Given the description of an element on the screen output the (x, y) to click on. 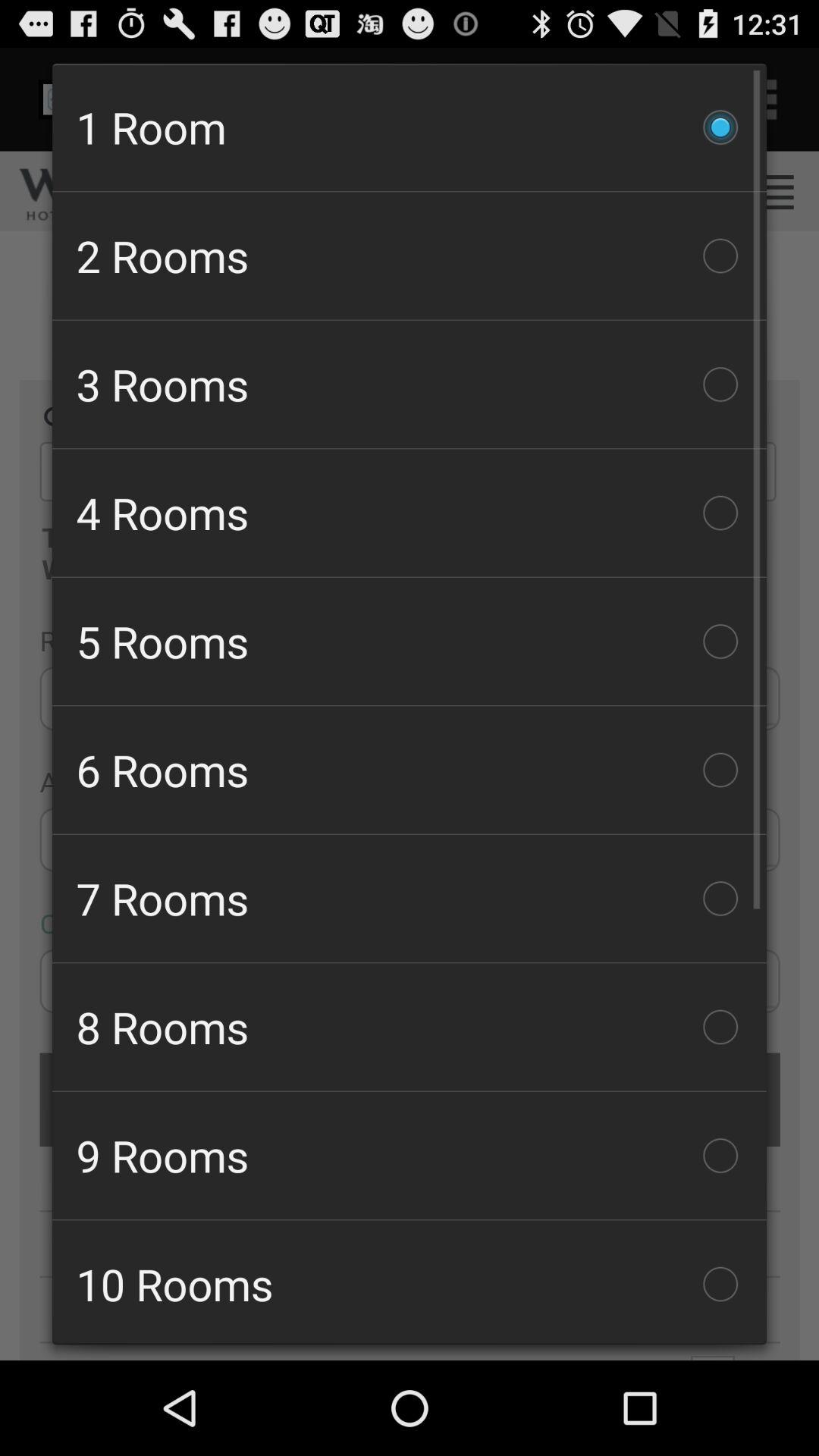
choose icon above the 7 rooms item (409, 769)
